Given the description of an element on the screen output the (x, y) to click on. 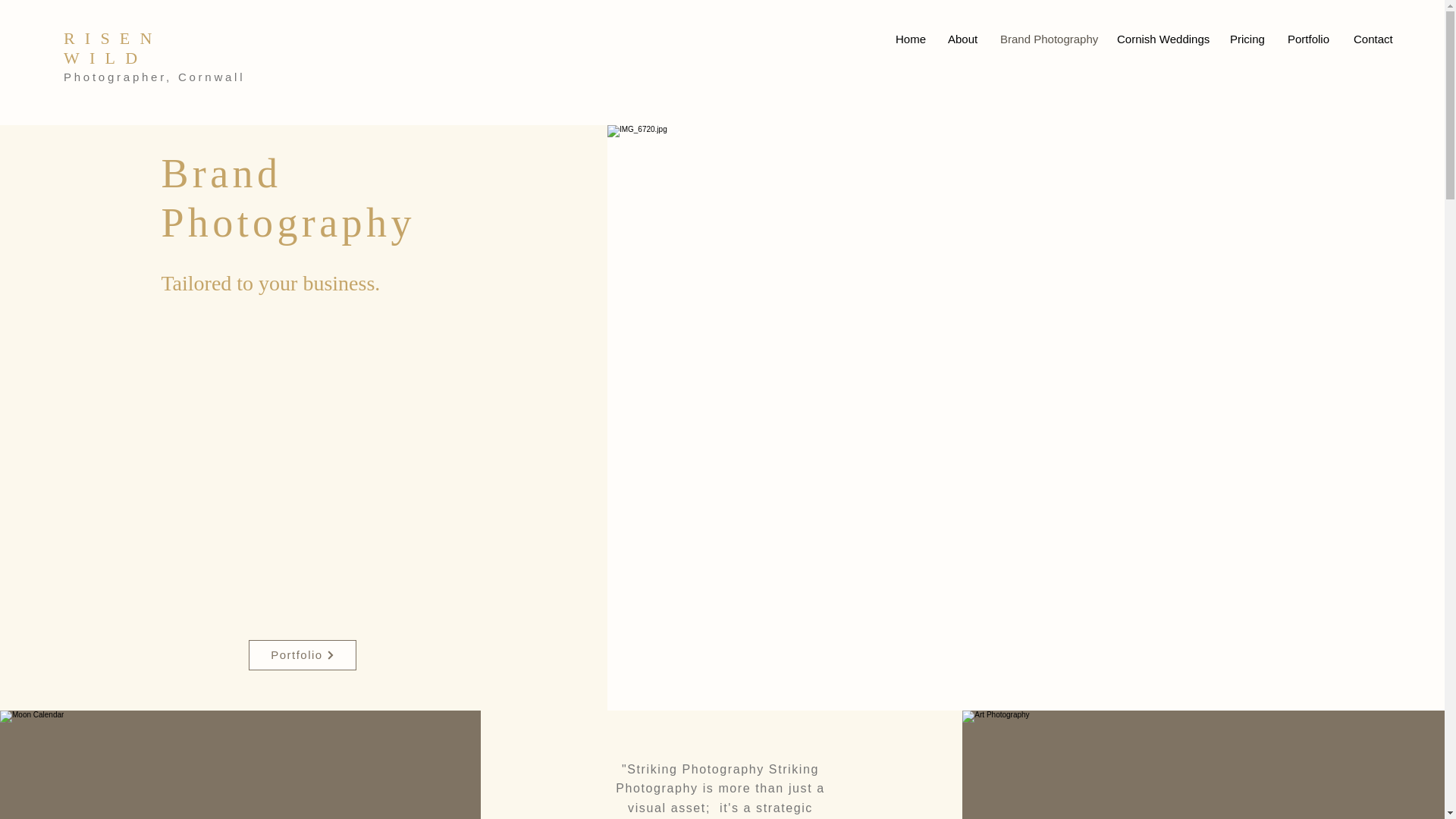
Pricing (1247, 38)
Portfolio (1309, 38)
Contact (1372, 38)
Portfolio (302, 654)
Cornish Weddings (1161, 38)
RISEN WILD (112, 47)
Photographer, Cornwall (154, 76)
Home (909, 38)
About (962, 38)
Brand Photography (1046, 38)
